Given the description of an element on the screen output the (x, y) to click on. 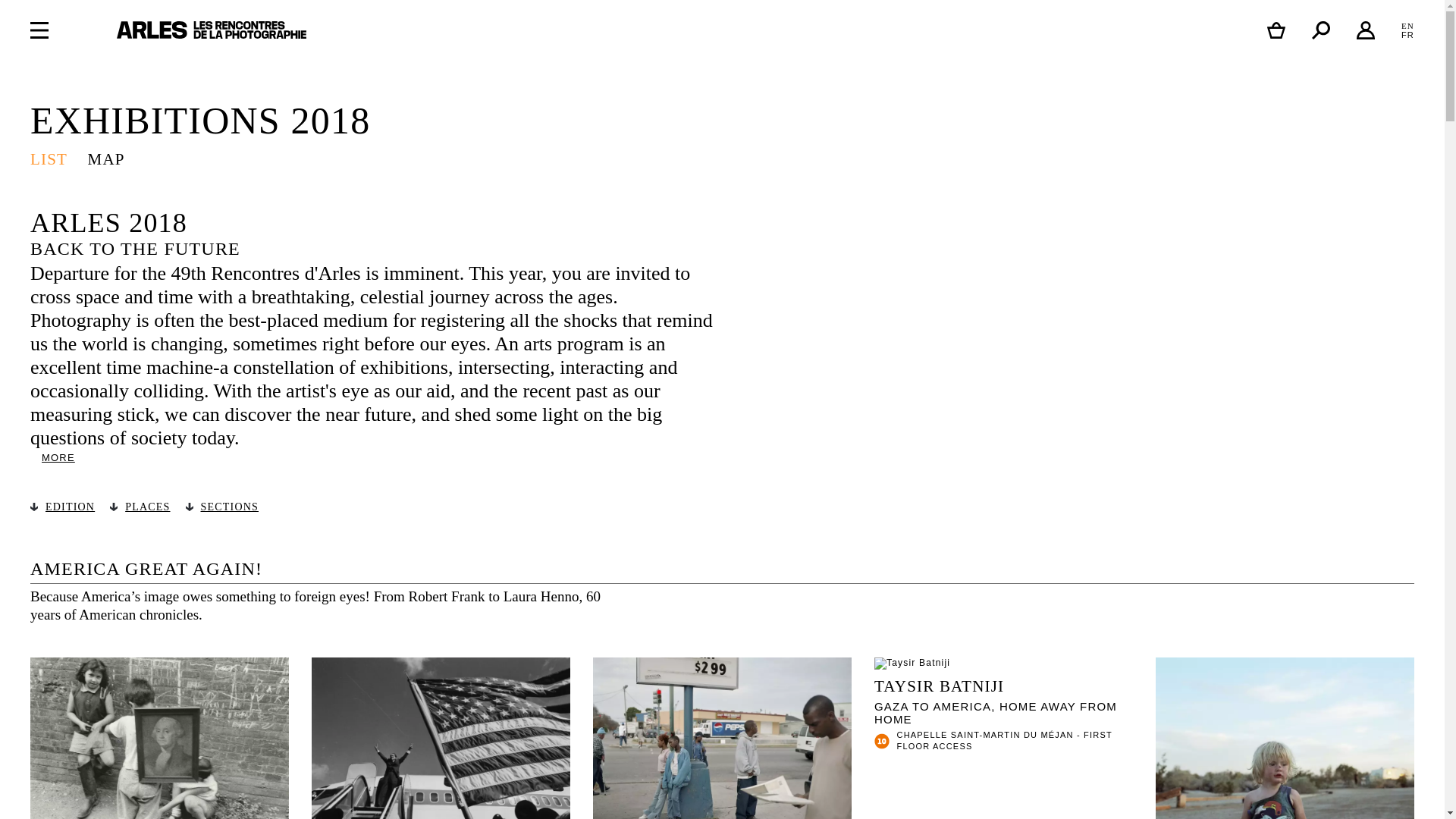
Espace membre (1365, 30)
Ticketing (1275, 30)
Les Rencontres d'Arles (210, 30)
EN (1406, 25)
MORE (52, 457)
MAP (106, 158)
FR (1406, 34)
LIST (159, 738)
